Given the description of an element on the screen output the (x, y) to click on. 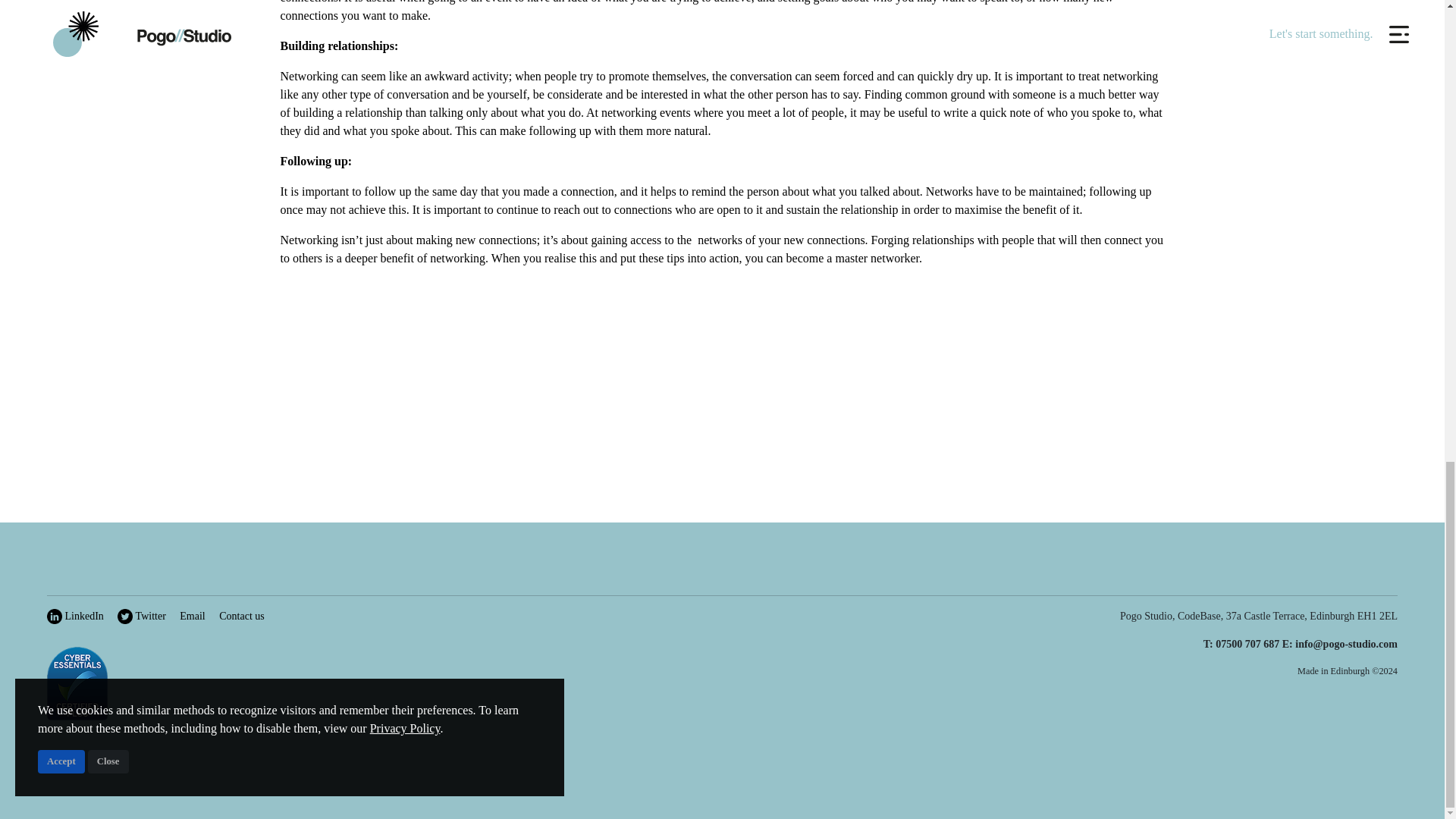
Twitter (141, 615)
Email (192, 615)
LinkedIn (74, 615)
Contact us (241, 615)
